Given the description of an element on the screen output the (x, y) to click on. 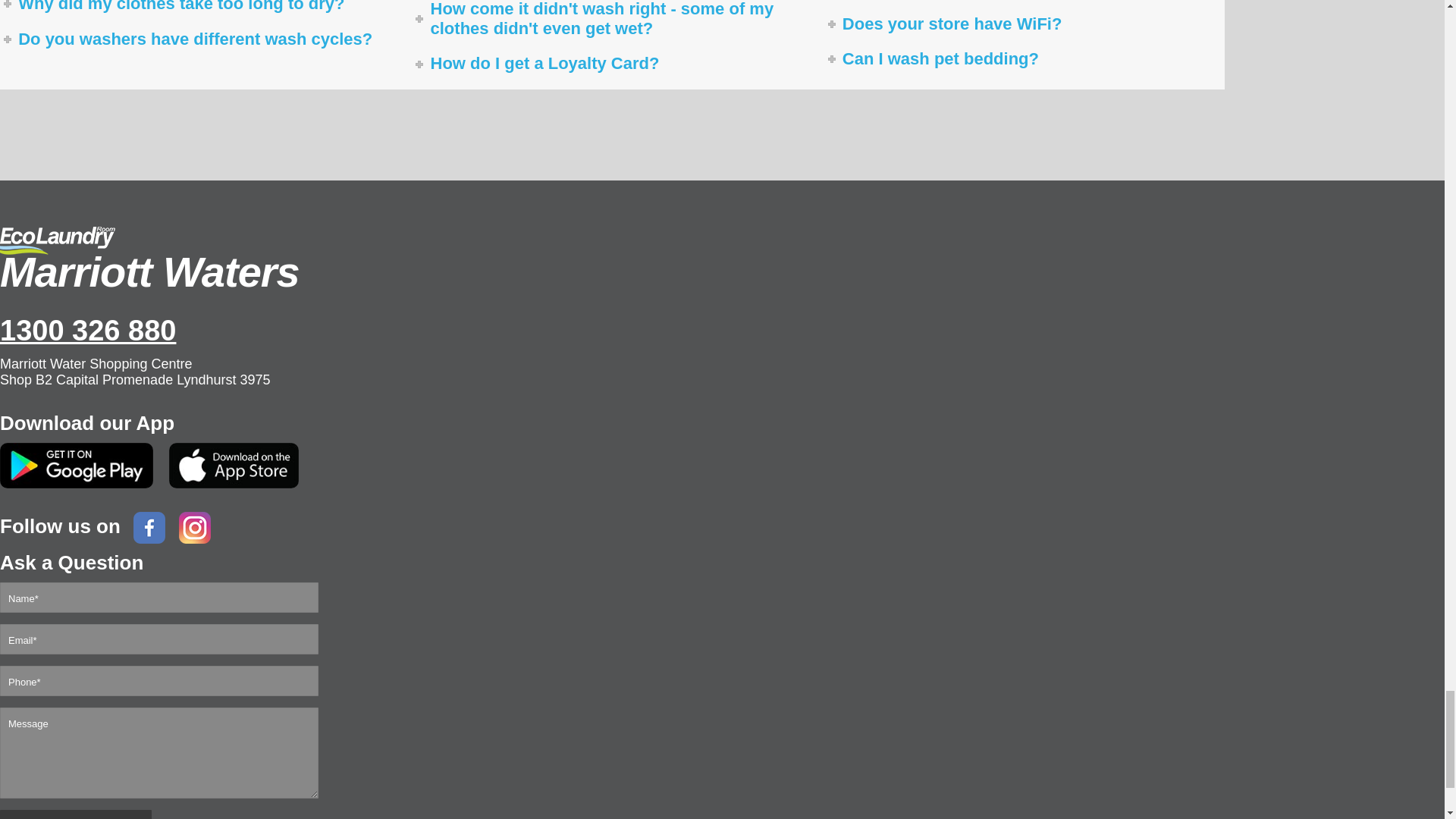
1300 326 880 (530, 330)
Submit (75, 814)
Submit (75, 814)
